Given the description of an element on the screen output the (x, y) to click on. 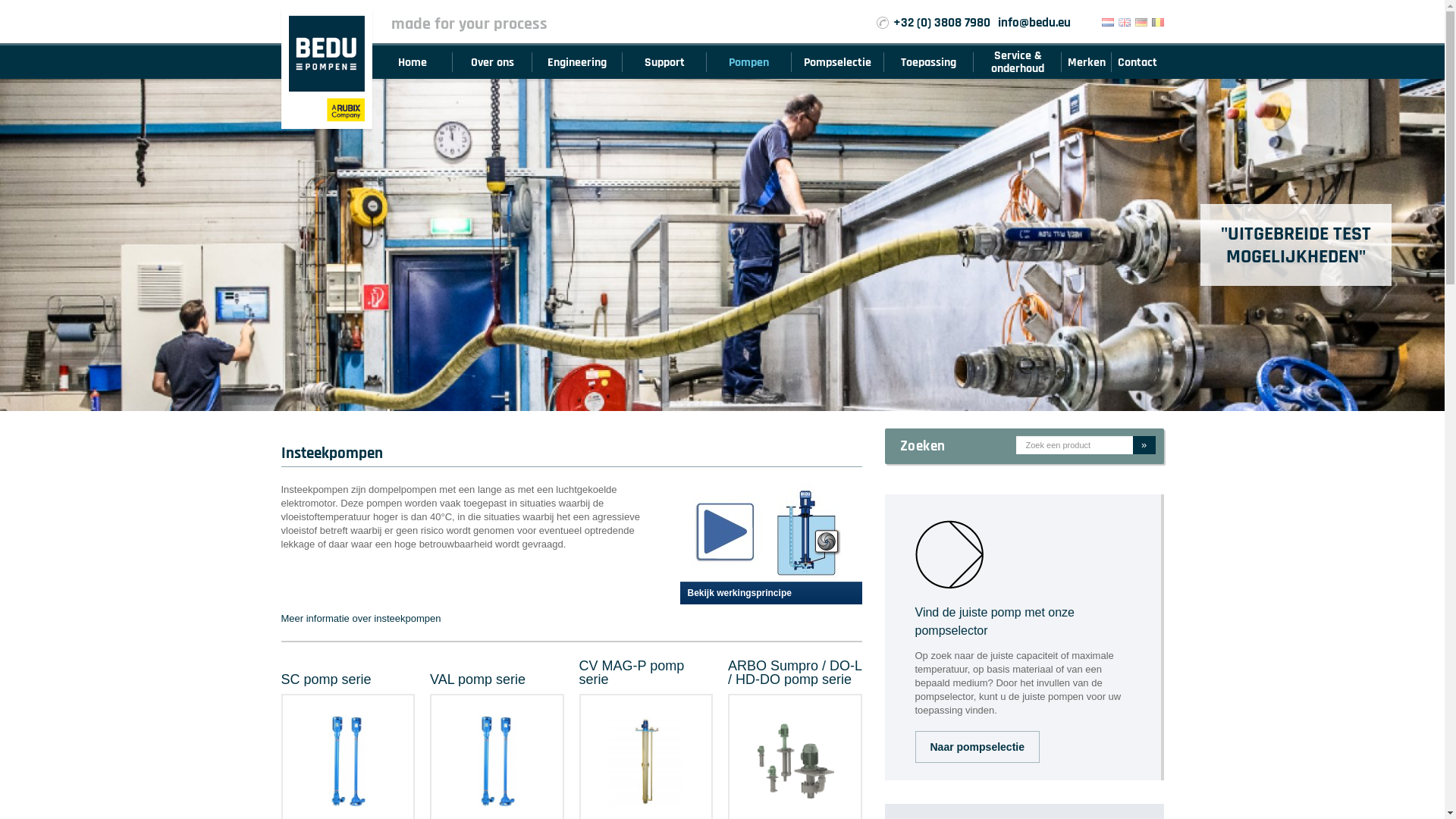
Contact Element type: text (1137, 61)
bedu.nl Element type: hover (1107, 22)
Bekijk het werkingsprincipe van insteekpompen Element type: hover (770, 530)
CV MAG-P pomp serie Element type: text (631, 672)
Home Element type: text (411, 61)
"UITGEBREIDE TECHNISCHE DIENST" Element type: text (1295, 244)
Engineering Element type: text (577, 61)
Toepassing Element type: text (928, 61)
ARBO Sumpro / DO-L / HD-DO pomp serie Element type: text (794, 672)
Bedu Pompen Element type: hover (325, 67)
Bekijk werkingsprincipe Element type: text (770, 592)
Naar pompselectie Element type: text (976, 746)
Belgisch Element type: hover (1157, 22)
Merken Element type: text (1086, 61)
Meer informatie over insteekpompen Element type: text (570, 618)
bedu.eu Element type: hover (1123, 22)
Pompen Element type: text (748, 61)
VAL pomp serie Element type: text (477, 679)
bedu-pumpen.de Element type: hover (1140, 22)
Over ons Element type: text (491, 61)
info@bedu.eu Element type: text (1033, 21)
SC pomp serie Element type: text (325, 679)
Service & onderhoud Element type: text (1017, 61)
Support Element type: text (664, 61)
Pompselectie Element type: text (837, 61)
"ENGINEERING" Element type: text (1314, 244)
